Given the description of an element on the screen output the (x, y) to click on. 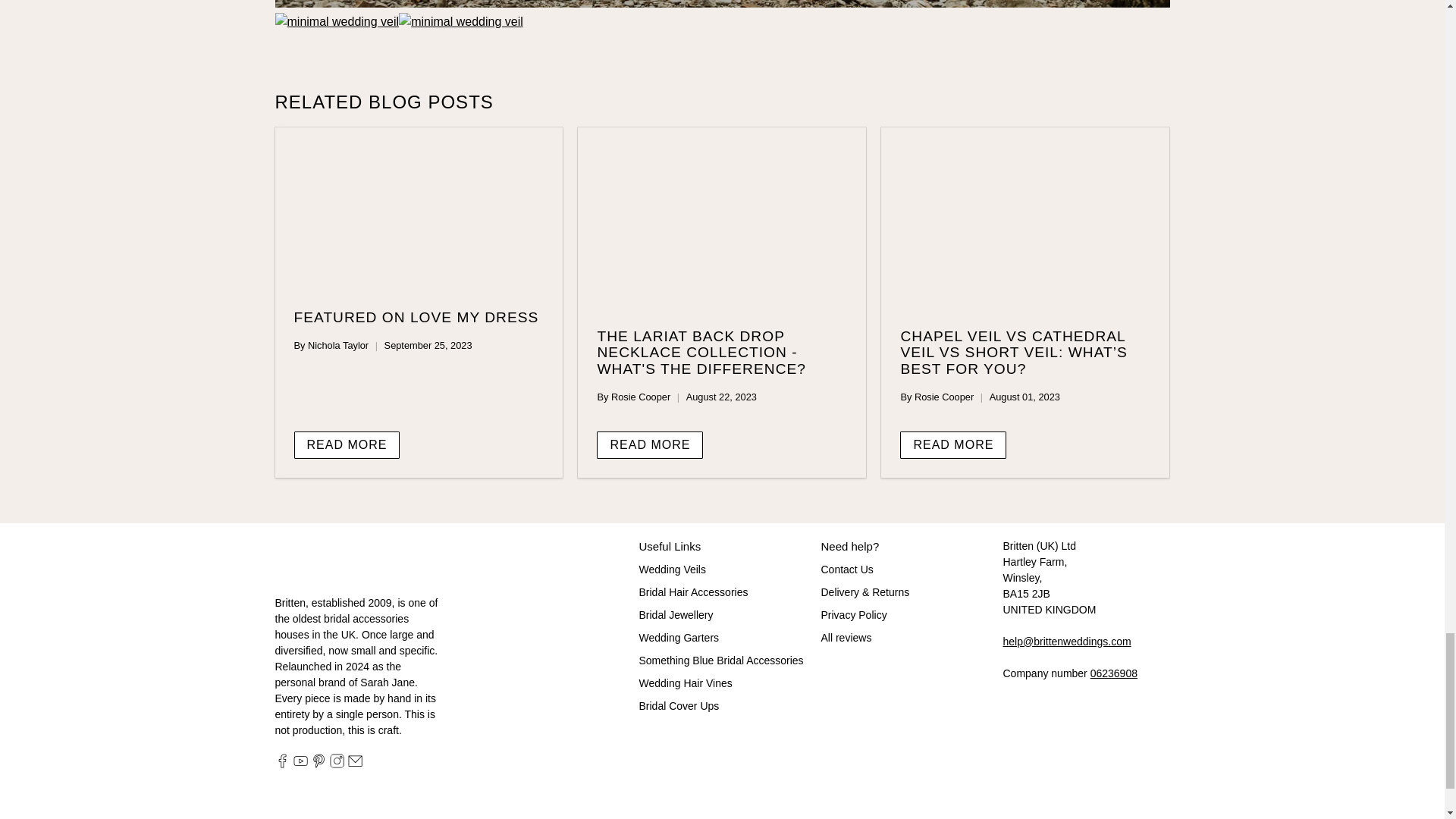
Featured on Love My Dress (416, 317)
Featured on Love My Dress (419, 209)
minimal wedding veil (460, 21)
minimal wedding veil (336, 21)
